Given the description of an element on the screen output the (x, y) to click on. 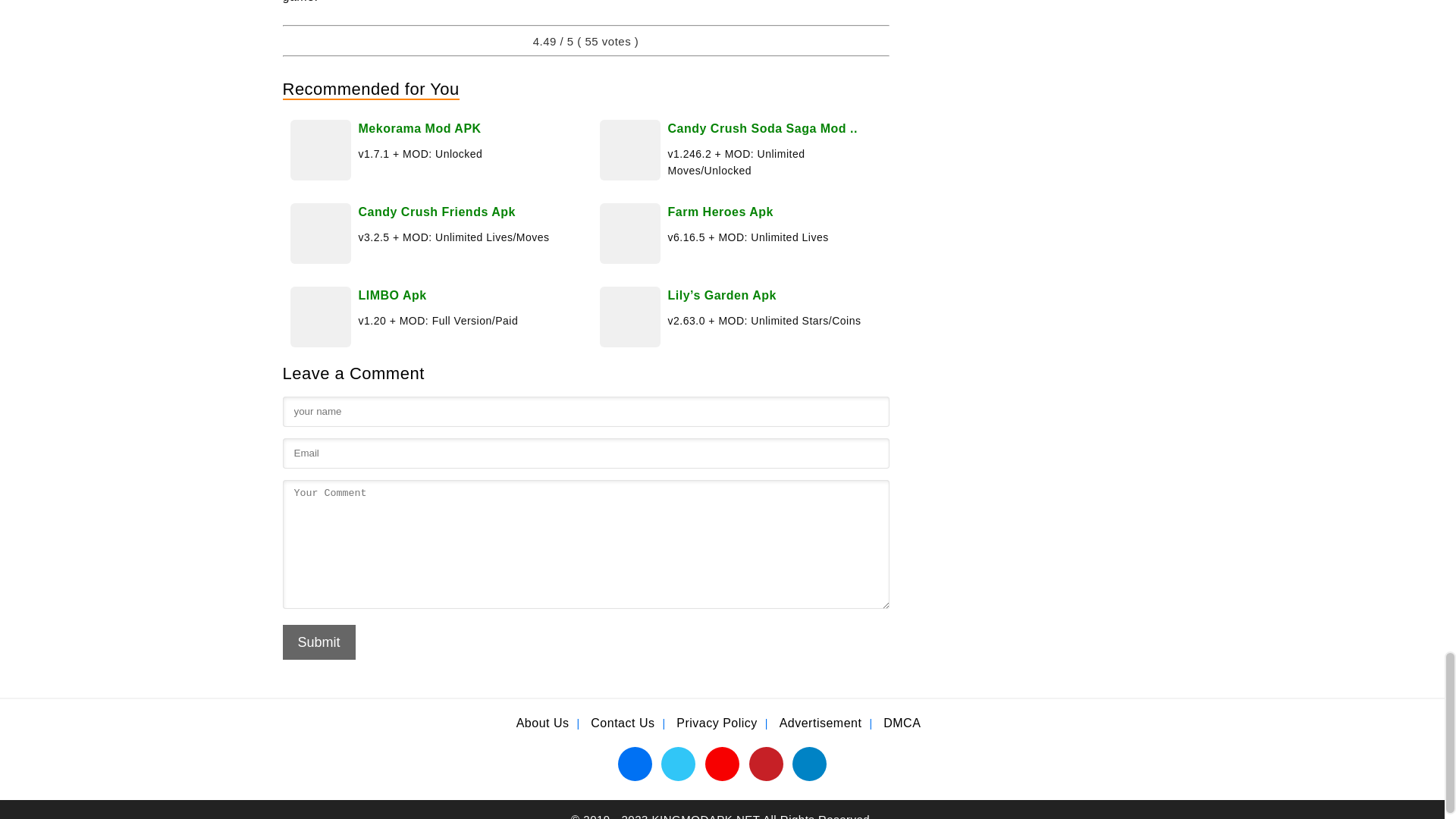
Official Telegram Page of KINGMODAPK.NET (809, 763)
Official Pinterest Page of KINGMODAPK.NET (766, 763)
Official Facebook Page of KINGMODAPK.NET (634, 763)
Submit (318, 642)
Official Twitter Account of KINGMODAPK.NET (678, 763)
Official Youtube Channel of KINGMODAPK.NET (721, 763)
